Given the description of an element on the screen output the (x, y) to click on. 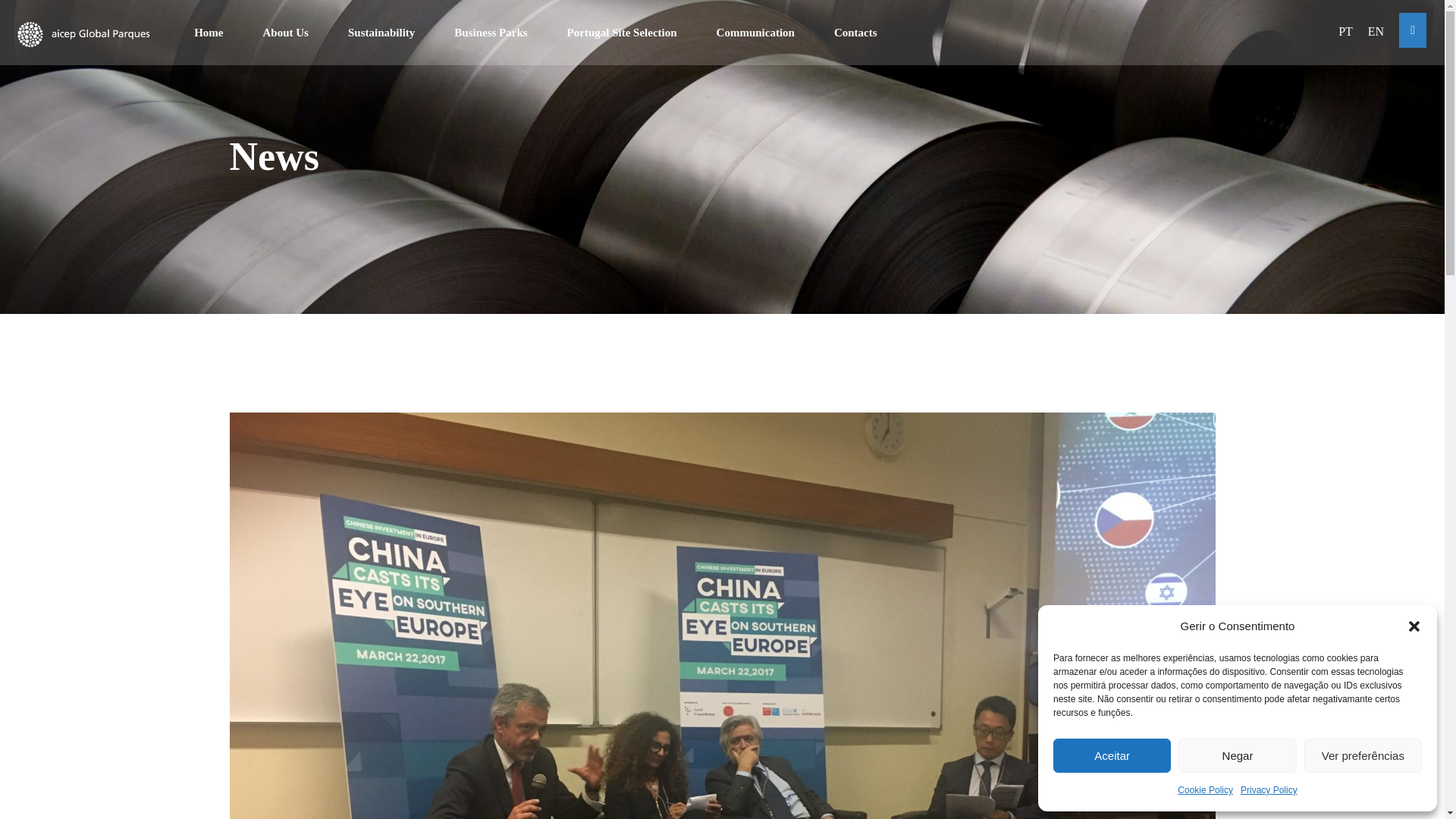
Privacy Policy (1268, 790)
Negar (1236, 755)
Communication (755, 32)
Portugal Site Selection (622, 32)
Business Parks (490, 32)
Sustainability (380, 32)
Aceitar (1111, 755)
Cookie Policy (1205, 790)
